Given the description of an element on the screen output the (x, y) to click on. 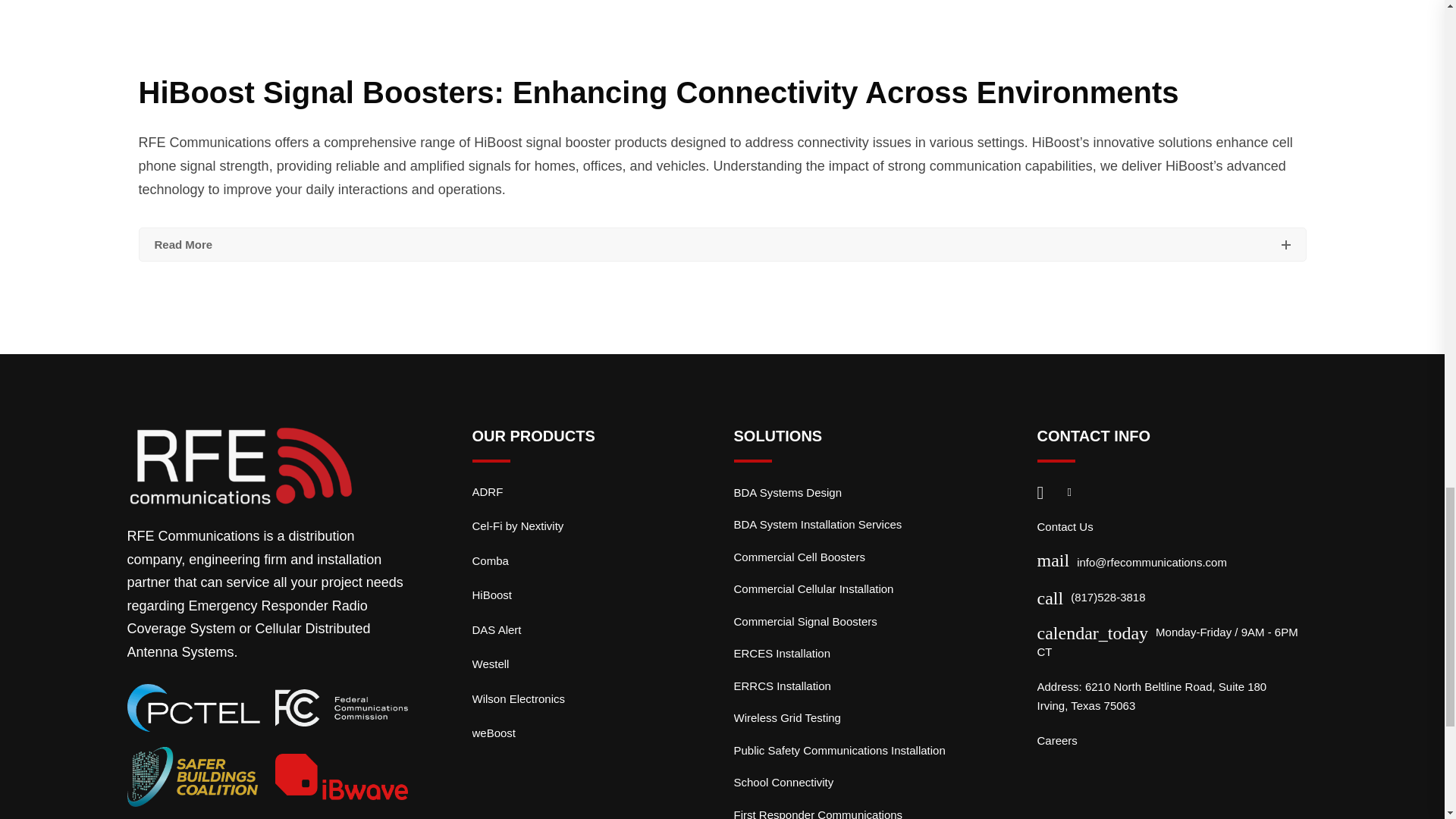
FCC logo (341, 707)
PCTEL logo (194, 707)
iBwave logo (341, 776)
SBC logo (194, 776)
